Given the description of an element on the screen output the (x, y) to click on. 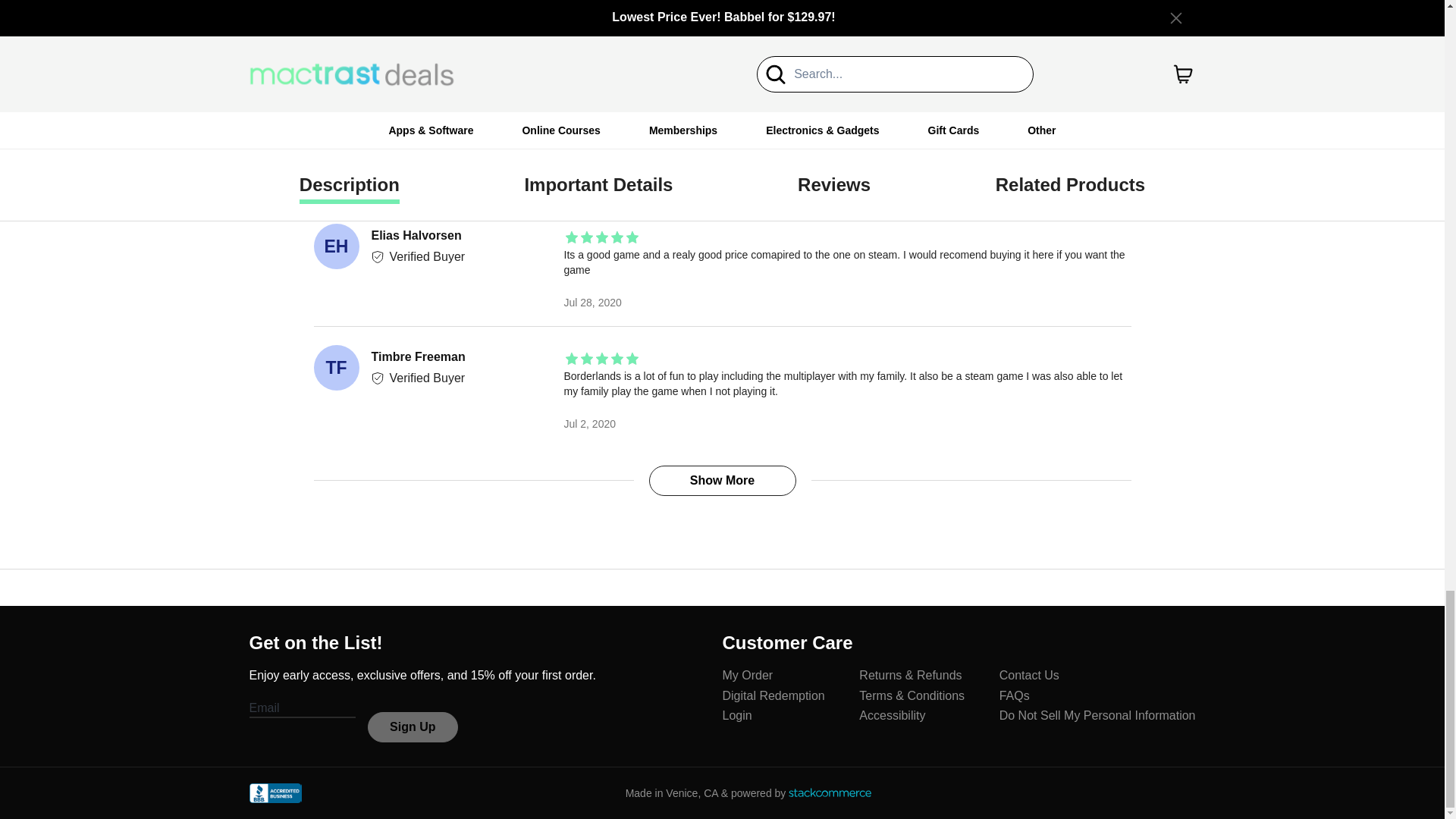
StackCommerce (829, 792)
